Given the description of an element on the screen output the (x, y) to click on. 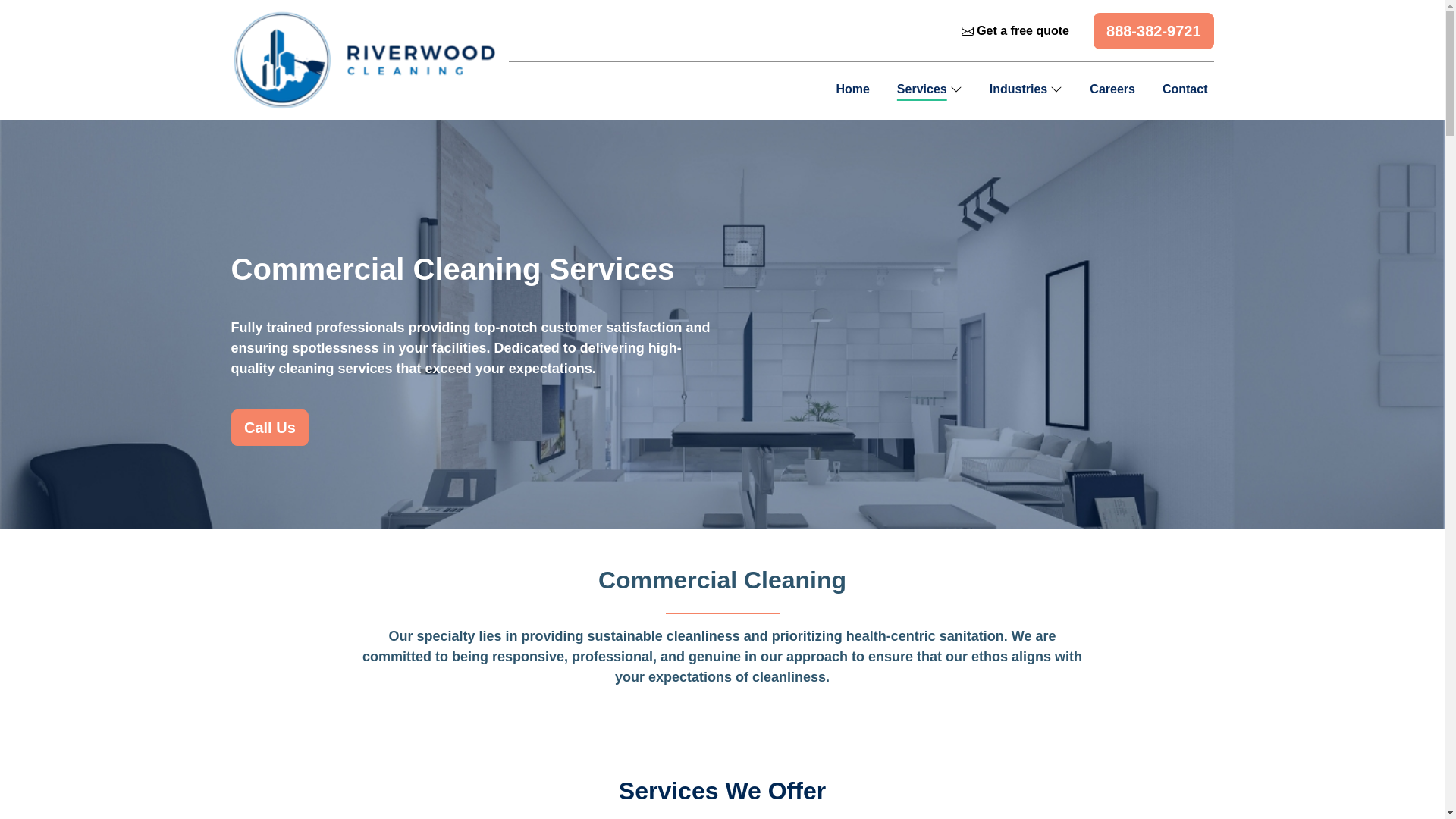
Contact (1185, 89)
Get a free quote (1014, 31)
Industries (1026, 90)
Call Us (269, 427)
888-382-9721 (1155, 31)
Riverwood cleaning (363, 57)
Careers (1112, 89)
Home (852, 89)
Services (929, 90)
